Given the description of an element on the screen output the (x, y) to click on. 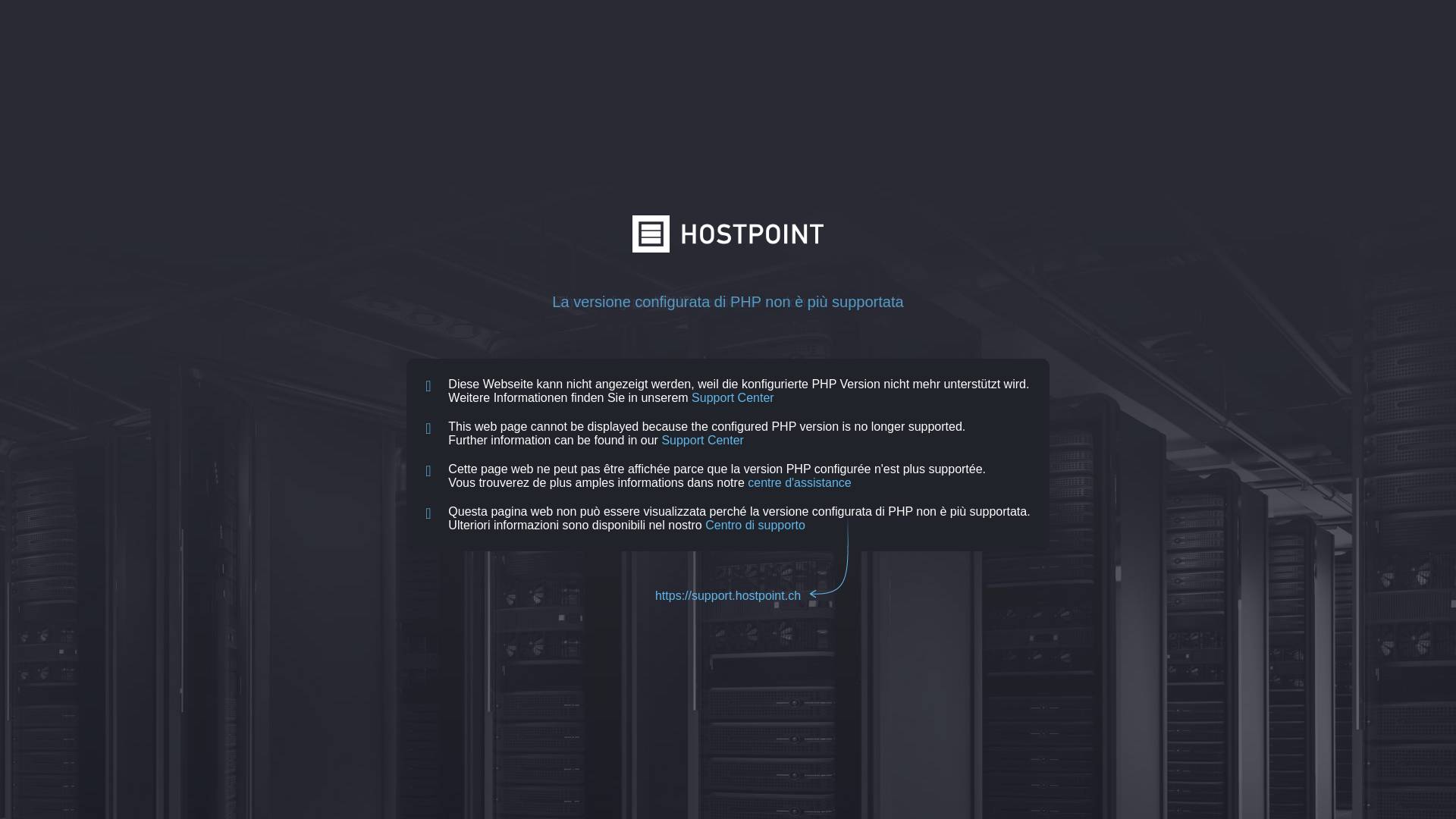
Support Center Element type: text (702, 439)
Support Center Element type: text (732, 397)
https://support.hostpoint.ch Element type: text (727, 595)
centre d'assistance Element type: text (798, 482)
Centro di supporto Element type: text (755, 524)
